Given the description of an element on the screen output the (x, y) to click on. 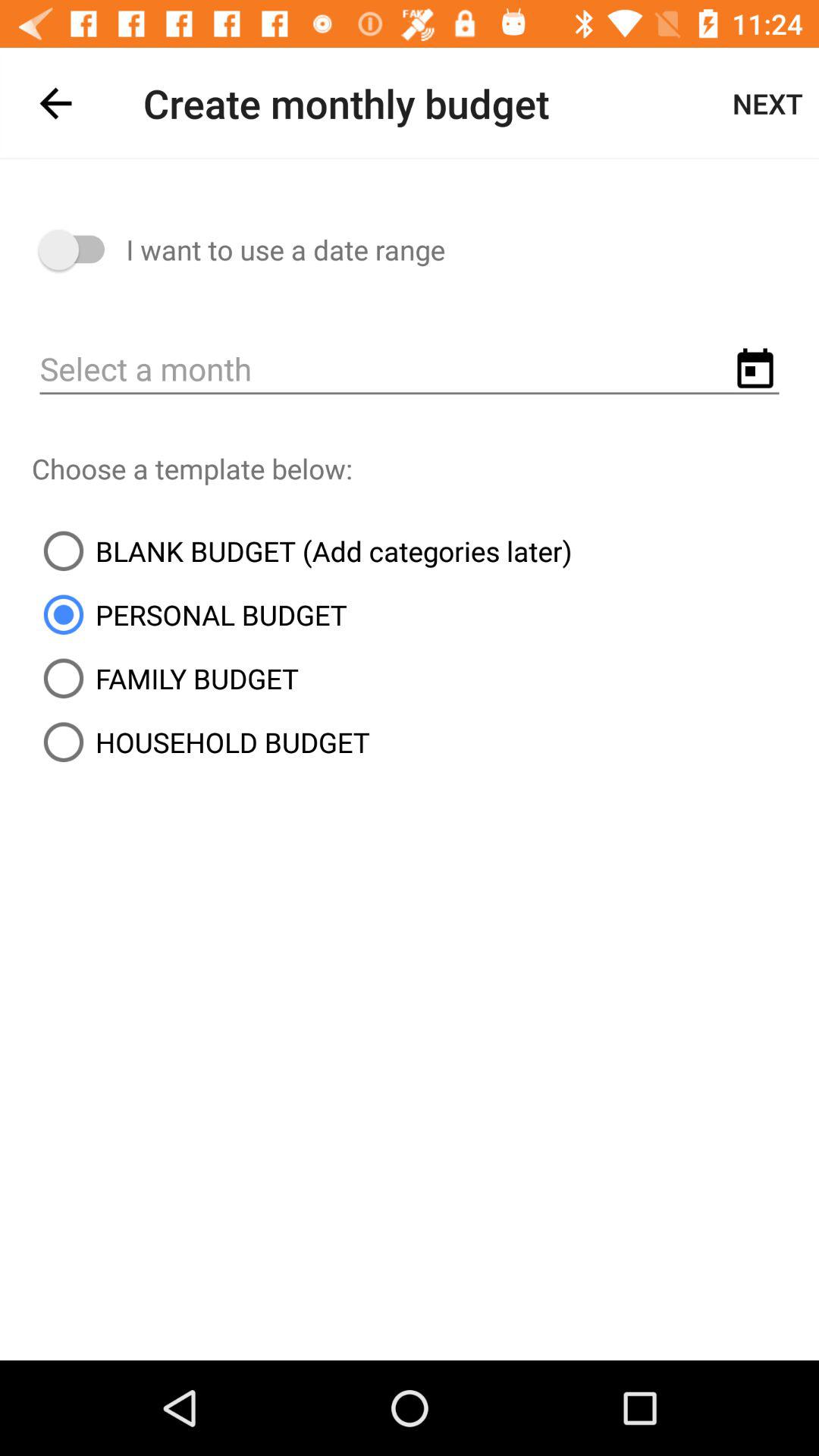
launch the icon below family budget item (200, 742)
